Given the description of an element on the screen output the (x, y) to click on. 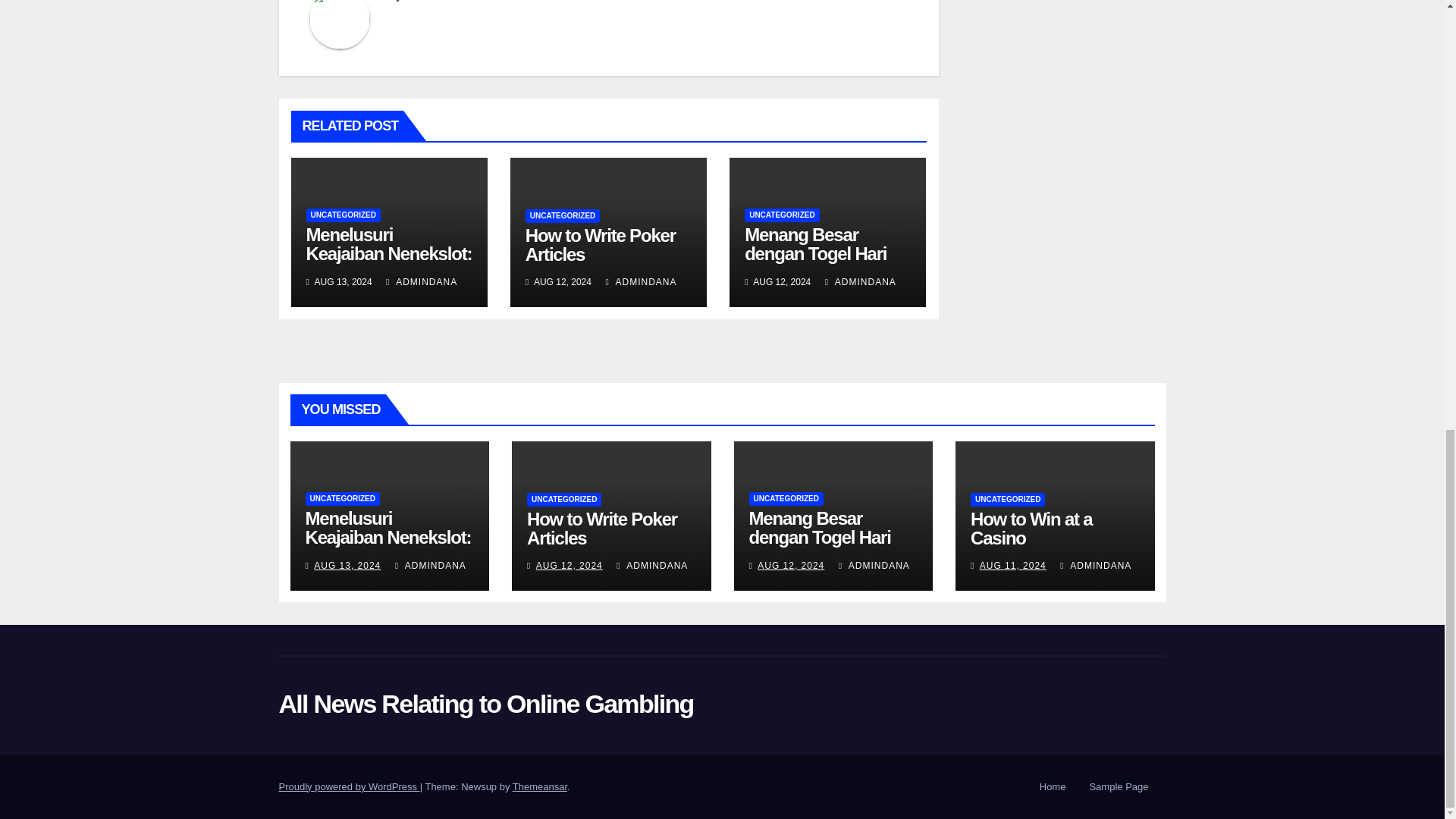
UNCATEGORIZED (562, 215)
ADMINDANA (421, 281)
ADMINDANA (641, 281)
AUG 13, 2024 (347, 565)
ADMINDANA (860, 281)
Permalink to: How to Write Poker Articles (600, 244)
admindana (428, 0)
UNCATEGORIZED (781, 214)
